Given the description of an element on the screen output the (x, y) to click on. 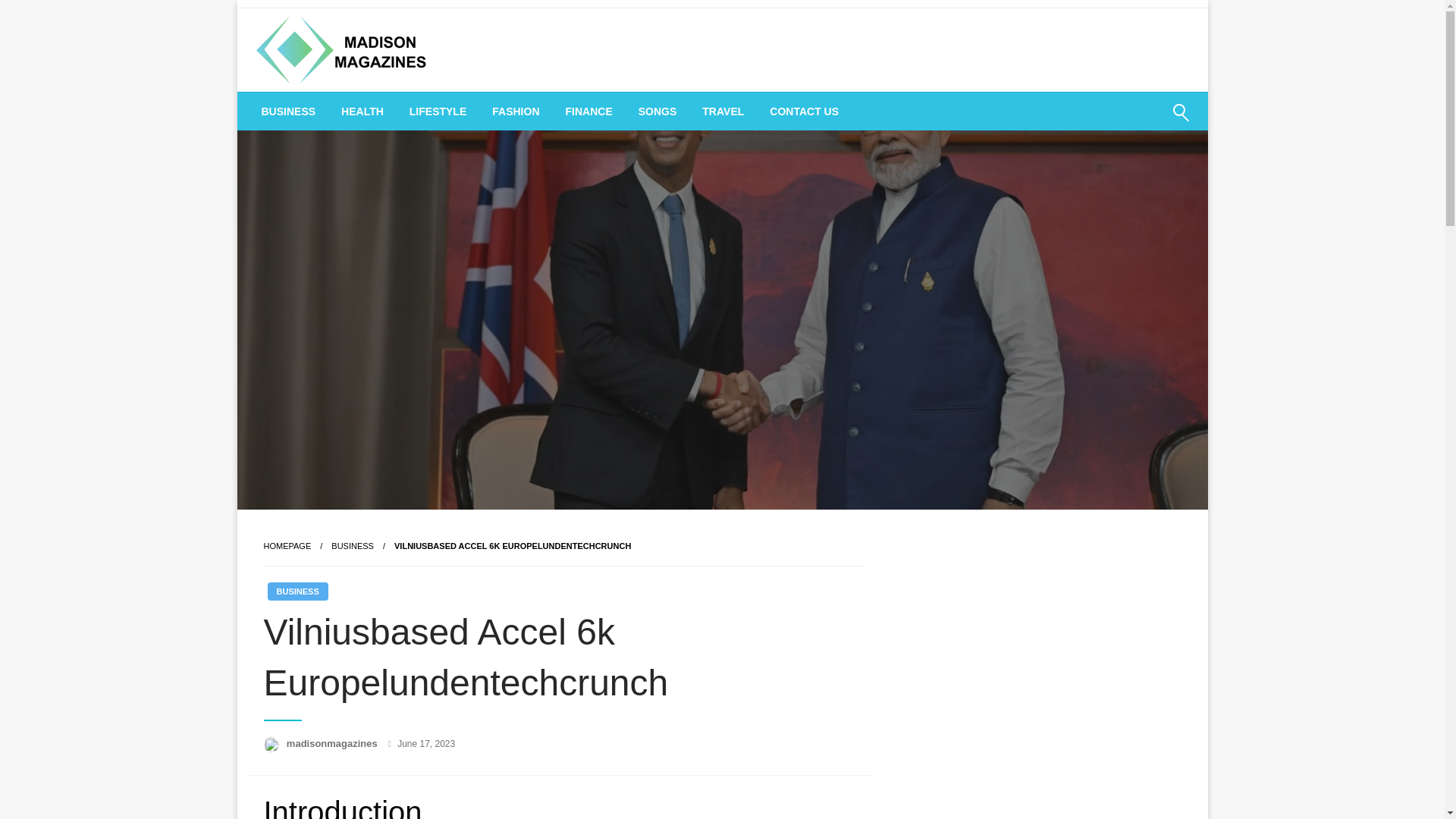
Business (352, 545)
HOMEPAGE (287, 545)
BUSINESS (296, 591)
madisonmagazines (333, 743)
BUSINESS (352, 545)
Homepage (287, 545)
Vilniusbased Accel 6k Europelundentechcrunch (512, 545)
HEALTH (362, 111)
FASHION (515, 111)
SONGS (658, 111)
Search (1144, 122)
June 17, 2023 (425, 743)
BUSINESS (288, 111)
TRAVEL (722, 111)
madisonmagazines (333, 743)
